Given the description of an element on the screen output the (x, y) to click on. 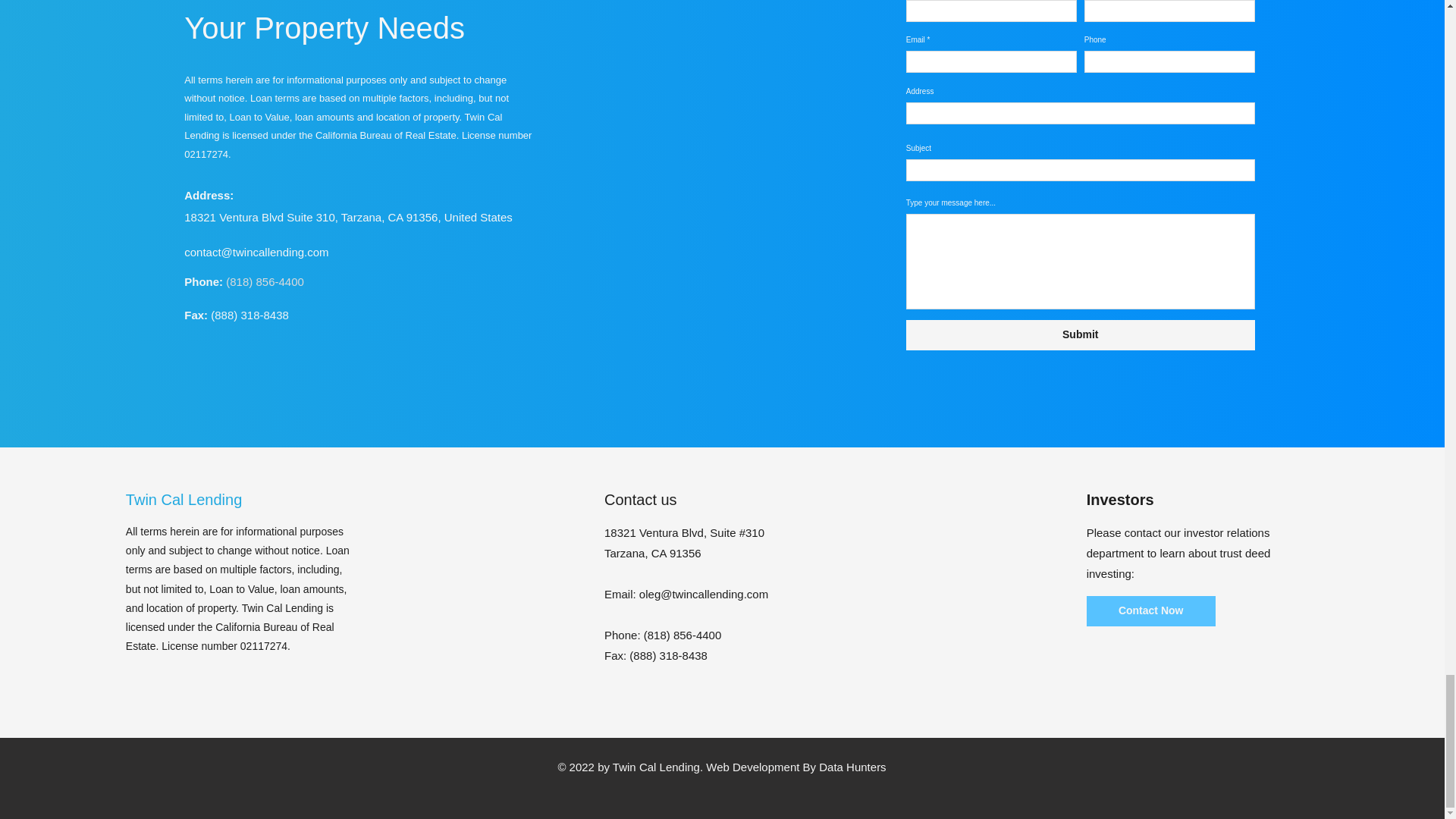
Submit (1080, 335)
Phone: (204, 281)
Data Hunters (851, 766)
Contact Now (1150, 611)
